Given the description of an element on the screen output the (x, y) to click on. 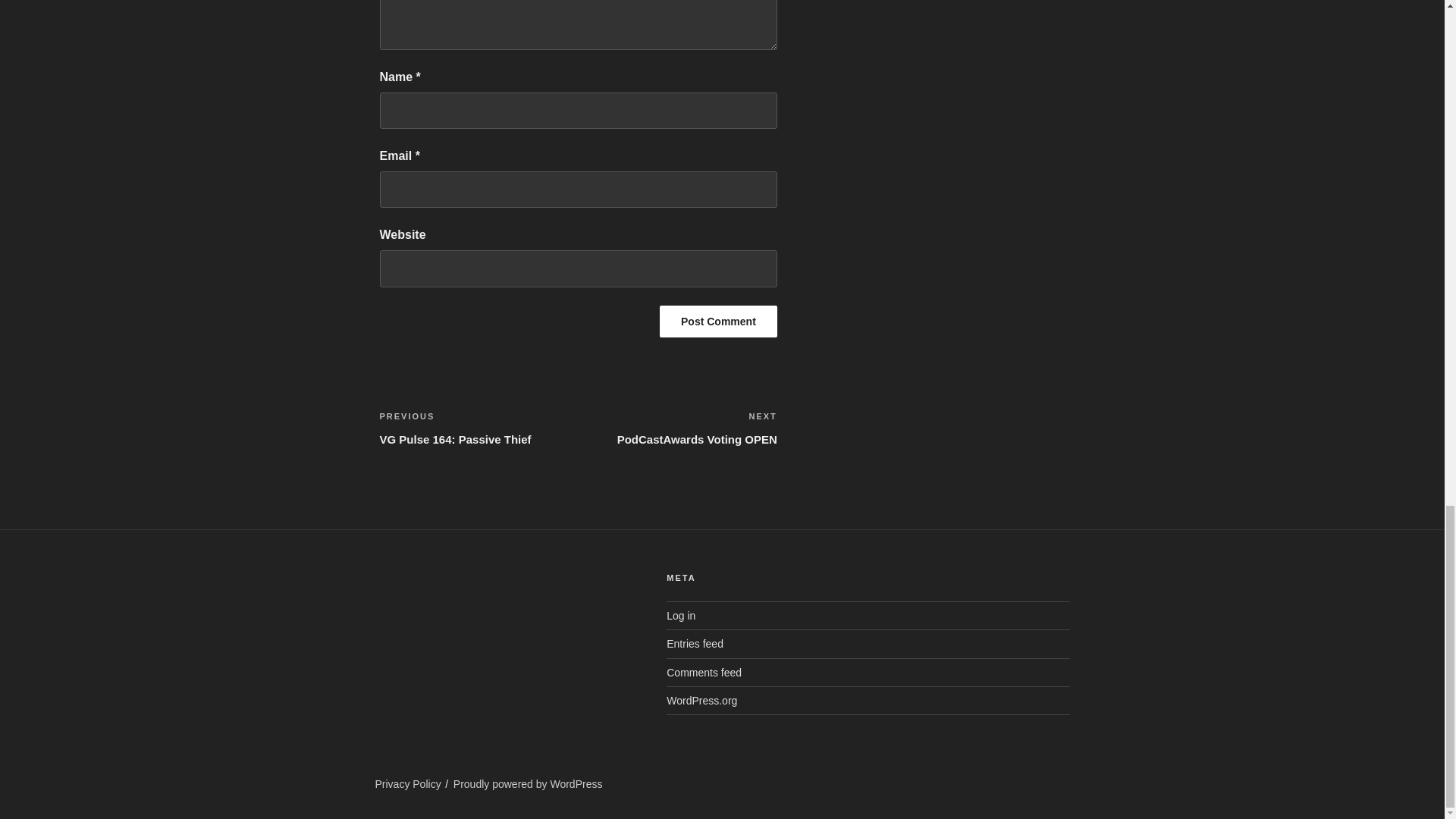
Post Comment (677, 428)
Post Comment (718, 321)
Log in (718, 321)
